Given the description of an element on the screen output the (x, y) to click on. 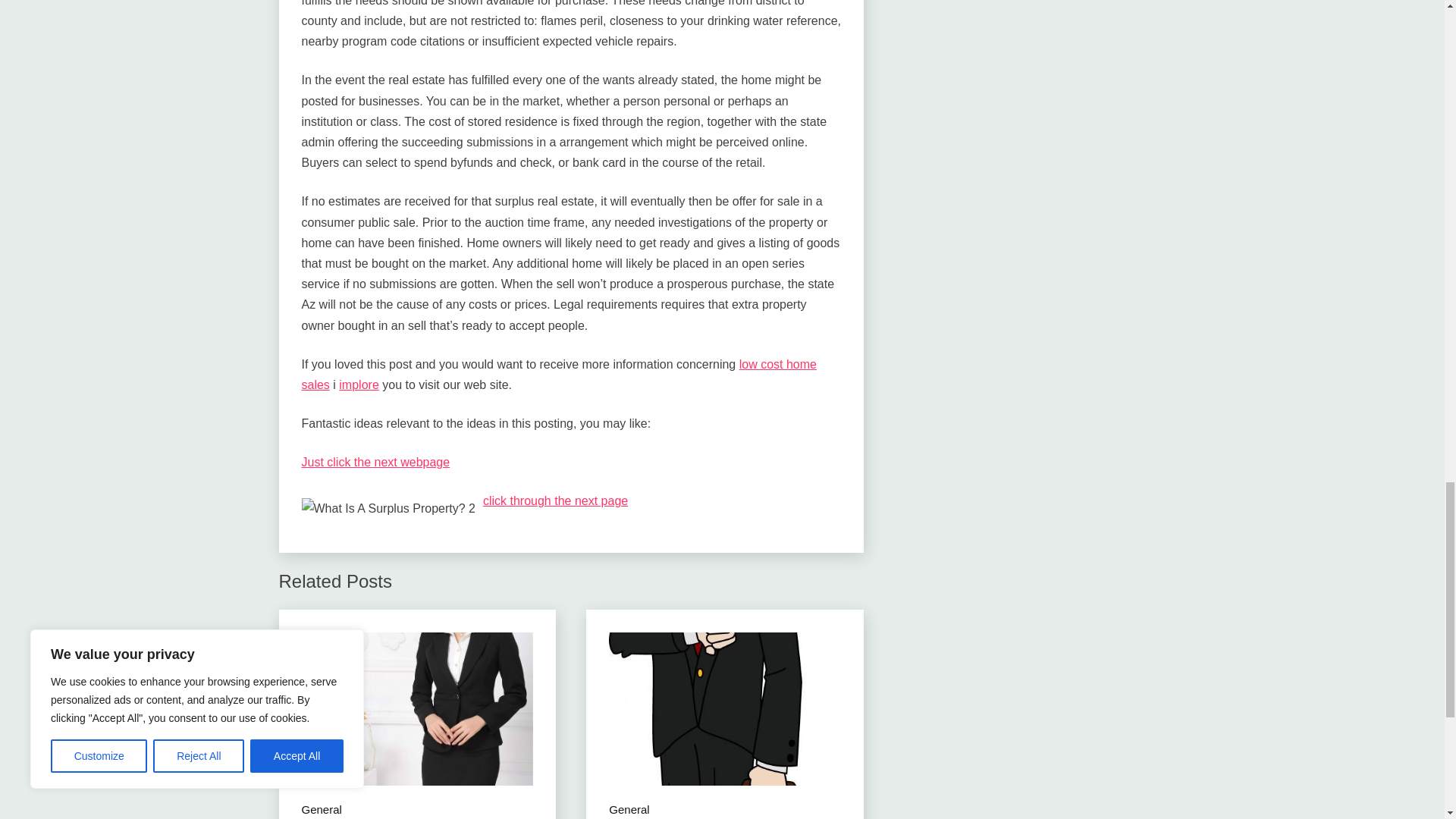
click through the next page (555, 500)
low cost home sales (558, 374)
implore (358, 384)
Just click the next webpage (375, 461)
General (321, 810)
